Given the description of an element on the screen output the (x, y) to click on. 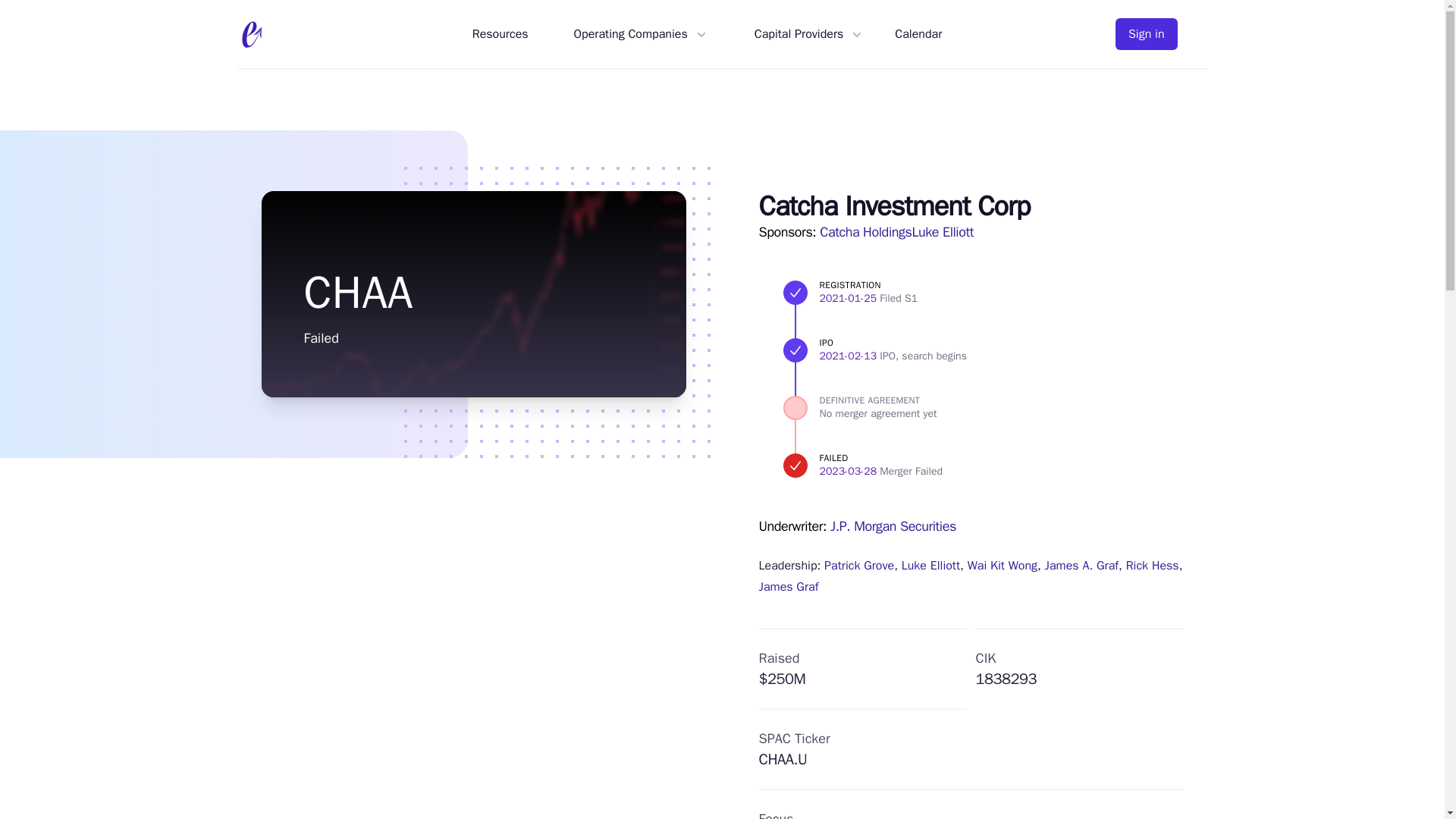
Sign in (1146, 33)
James Graf (788, 586)
Operating Companies (634, 34)
Capital Providers (801, 34)
Luke Elliott (930, 565)
Wai Kit Wong (1002, 565)
Calendar (918, 34)
J.P. Morgan Securities (892, 525)
James A. Graf (1081, 565)
